Given the description of an element on the screen output the (x, y) to click on. 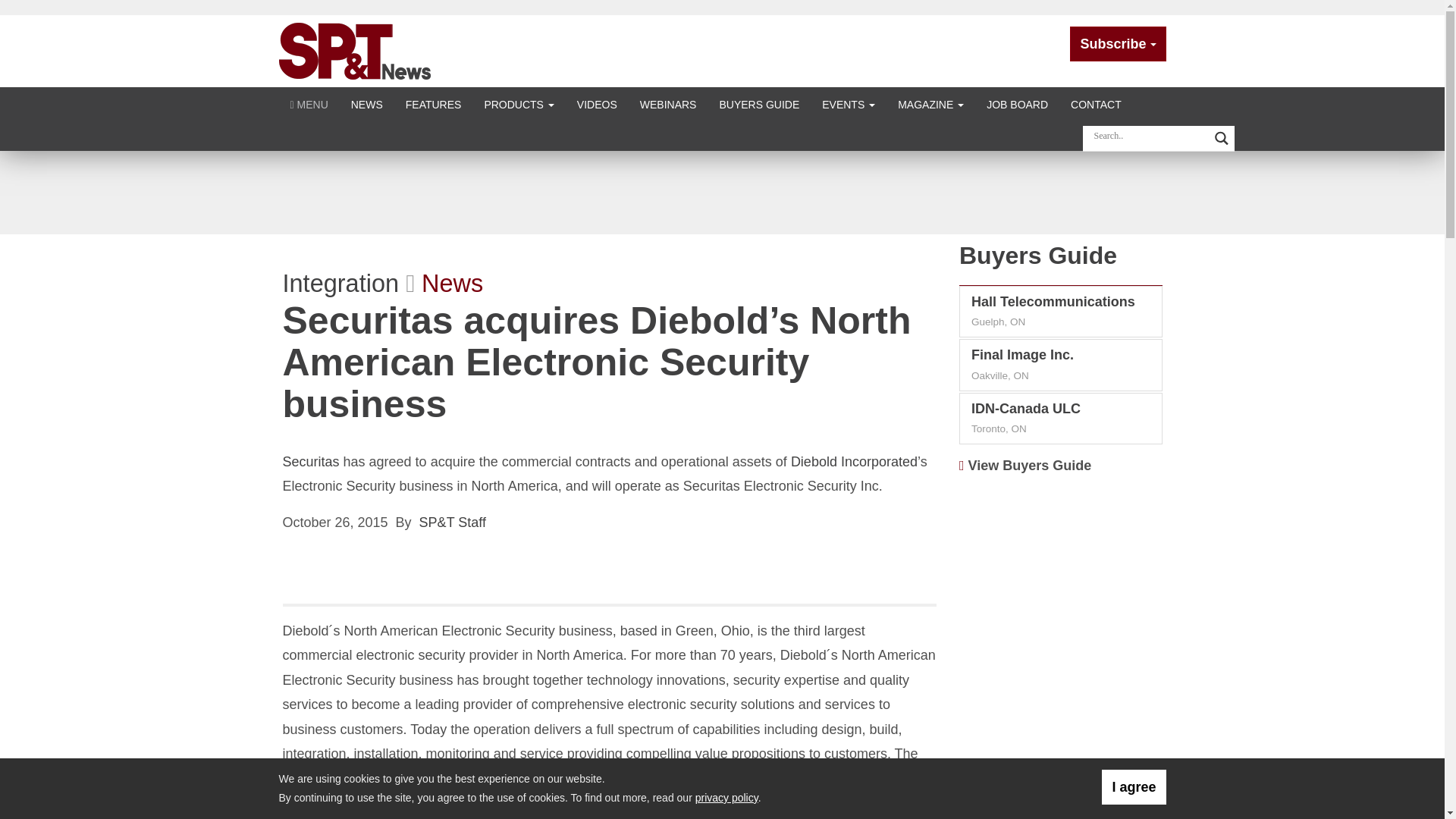
Subscribe (1118, 43)
PRODUCTS (517, 103)
EVENTS (848, 103)
MAGAZINE (930, 103)
JOB BOARD (1017, 103)
3rd party ad content (1060, 582)
3rd party ad content (1060, 751)
MENU (309, 103)
CONTACT (1095, 103)
VIDEOS (597, 103)
3rd party ad content (721, 192)
BUYERS GUIDE (758, 103)
Click to show site navigation (309, 103)
FEATURES (433, 103)
WEBINARS (667, 103)
